Given the description of an element on the screen output the (x, y) to click on. 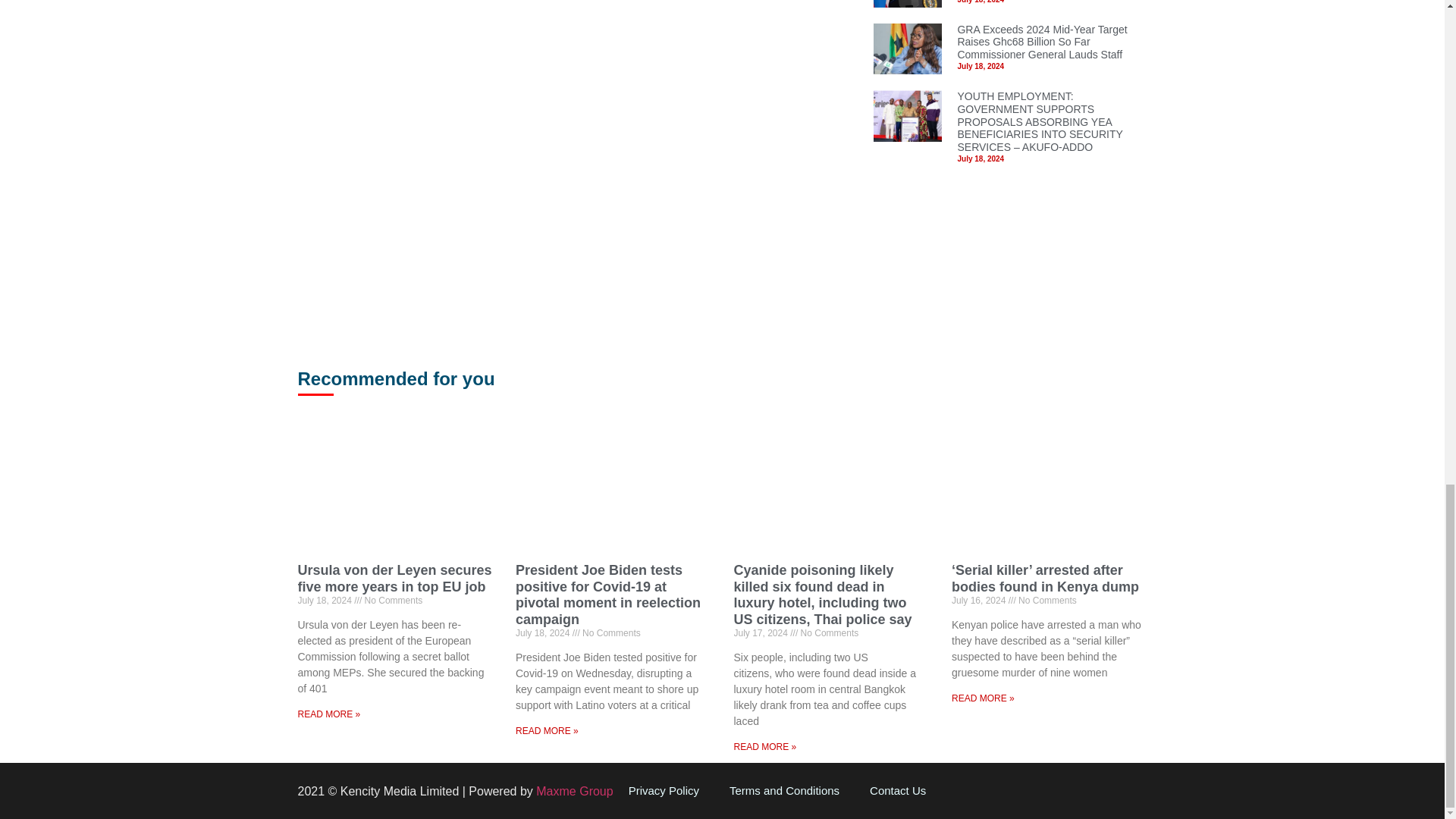
Vuukle Comments Widget (573, 218)
Vuukle Emotes Widget (524, 42)
